Given the description of an element on the screen output the (x, y) to click on. 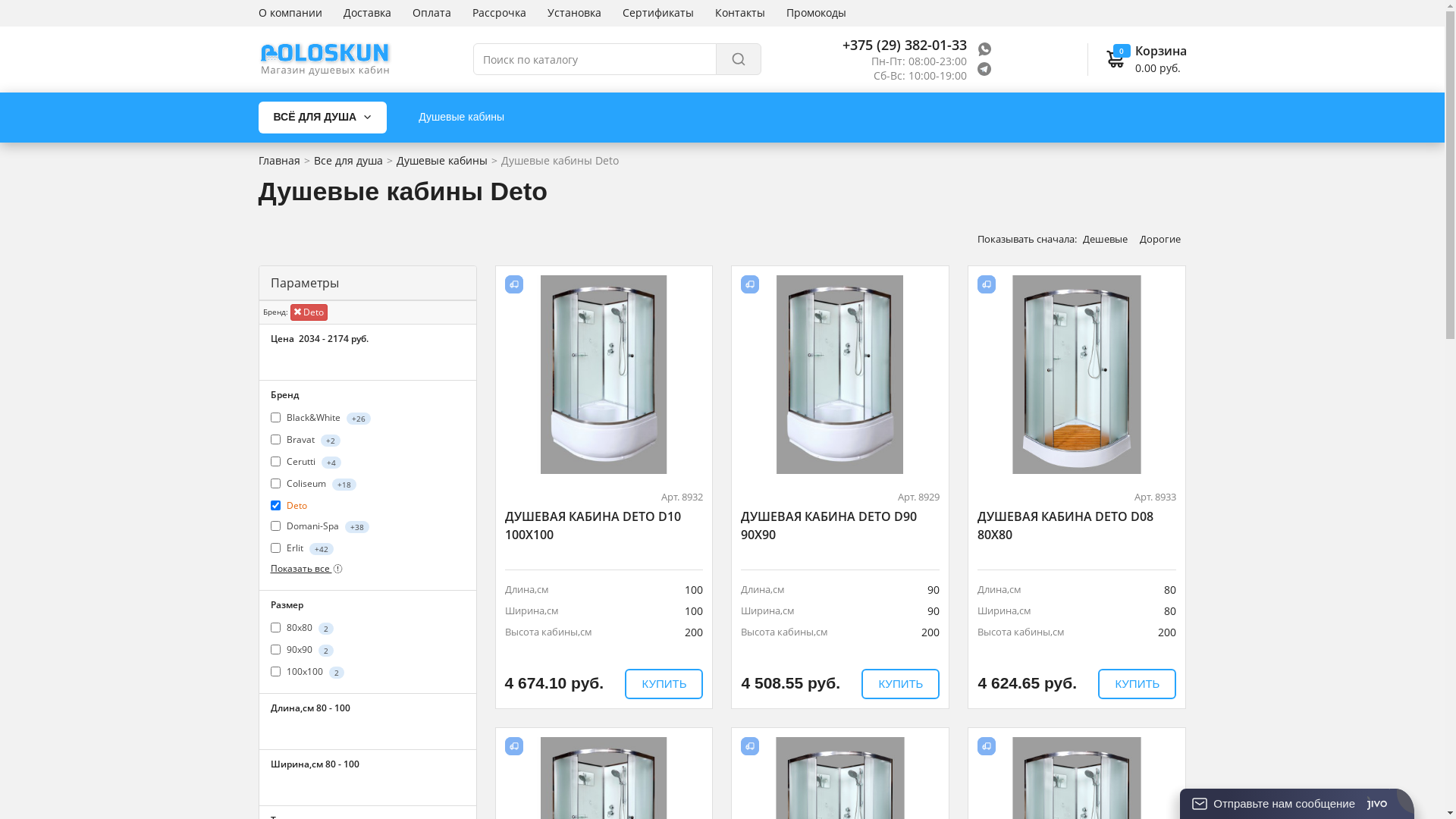
+375 (29) 382-01-33 Element type: text (903, 44)
Deto Element type: text (296, 504)
Deto Element type: text (307, 312)
